Given the description of an element on the screen output the (x, y) to click on. 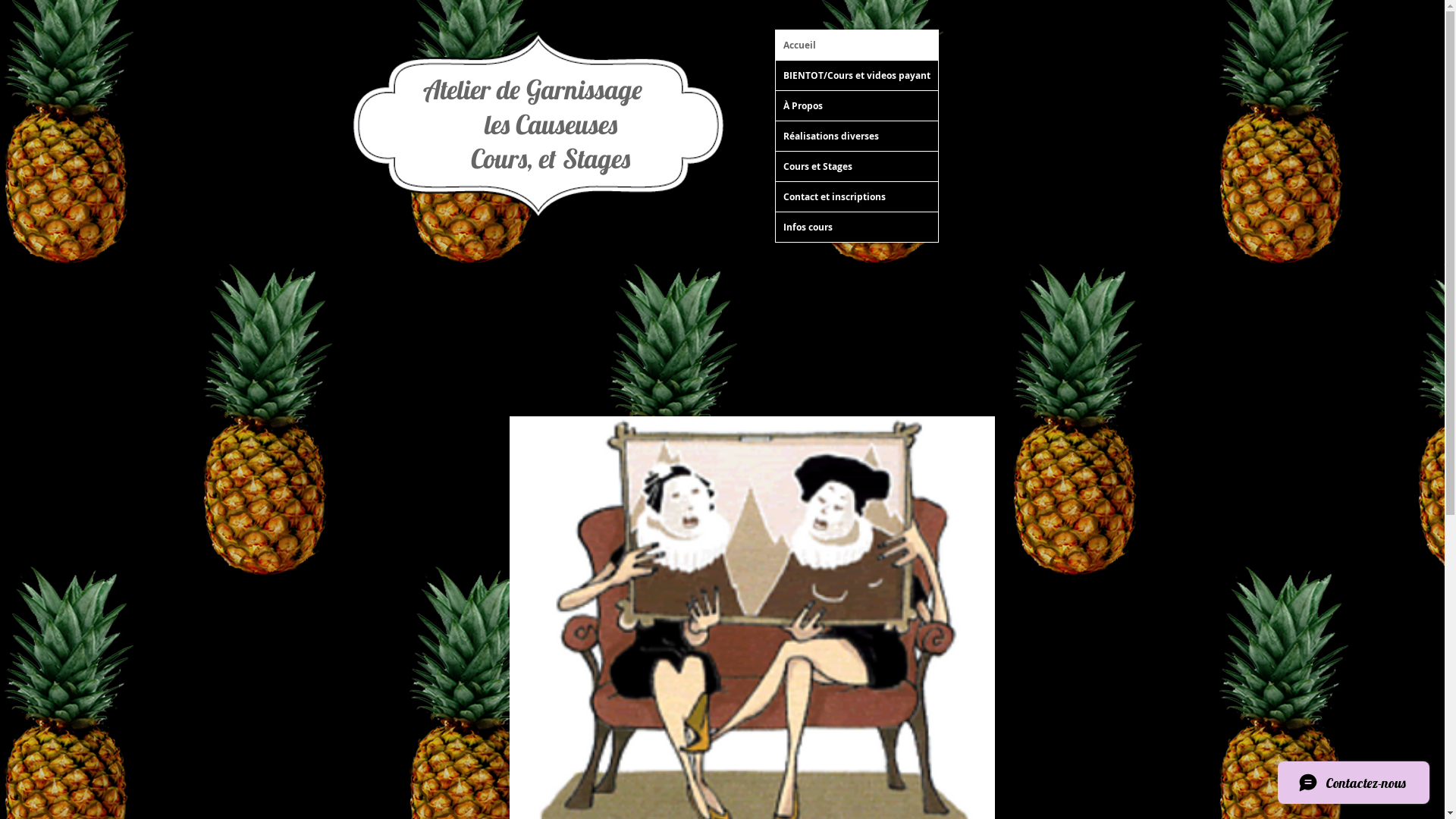
Events Calendar Element type: hover (1248, 174)
Accueil Element type: text (856, 44)
      les Causeuses Element type: text (531, 124)
BIENTOT/Cours et videos payant Element type: text (856, 75)
Infos cours Element type: text (856, 226)
 Atelier de Garnissa Element type: text (517, 89)
Cours et Stages Element type: text (856, 166)
Contact et inscriptions Element type: text (856, 196)
ge  Element type: text (633, 89)
